Given the description of an element on the screen output the (x, y) to click on. 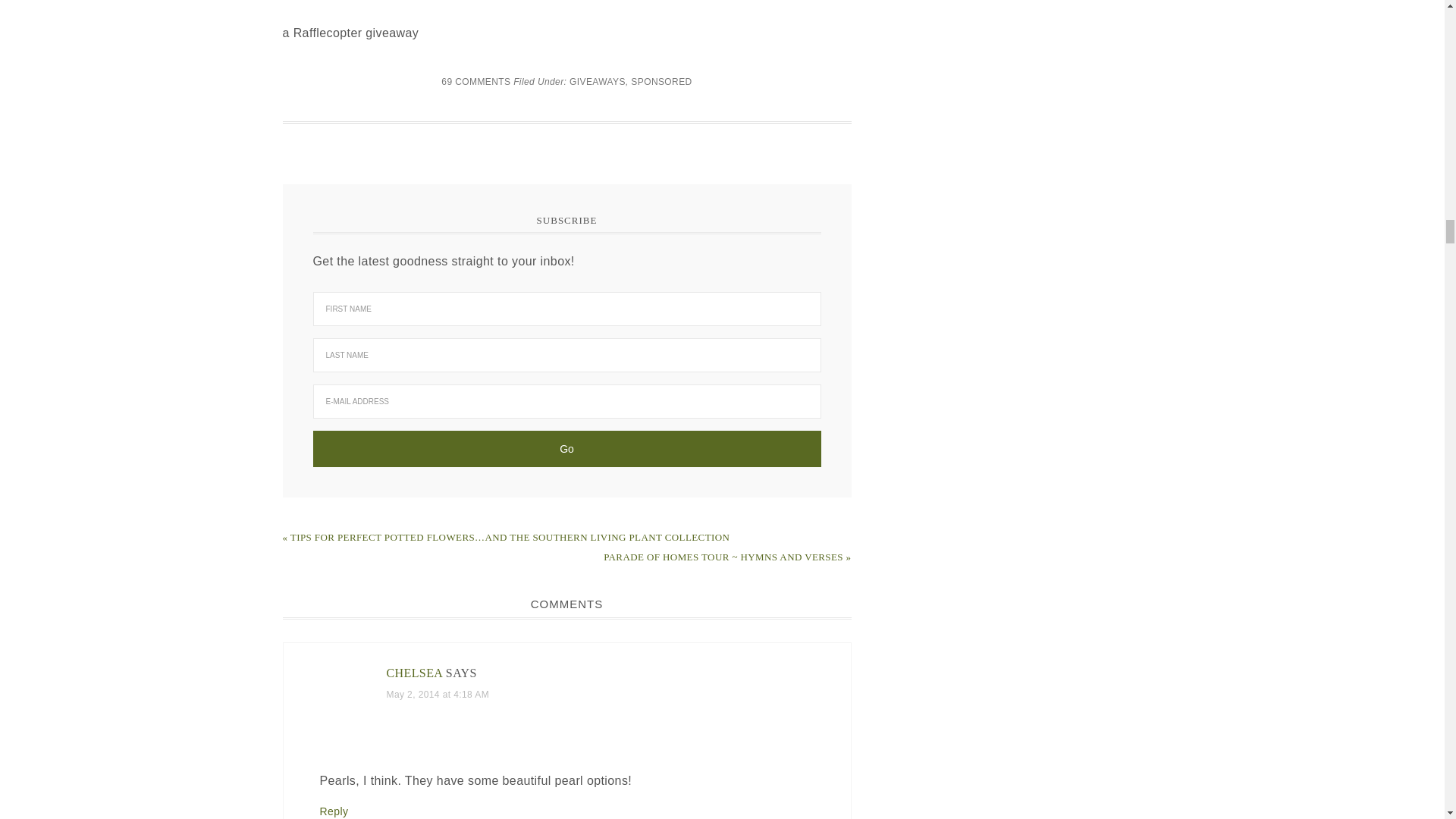
Go (567, 448)
